Given the description of an element on the screen output the (x, y) to click on. 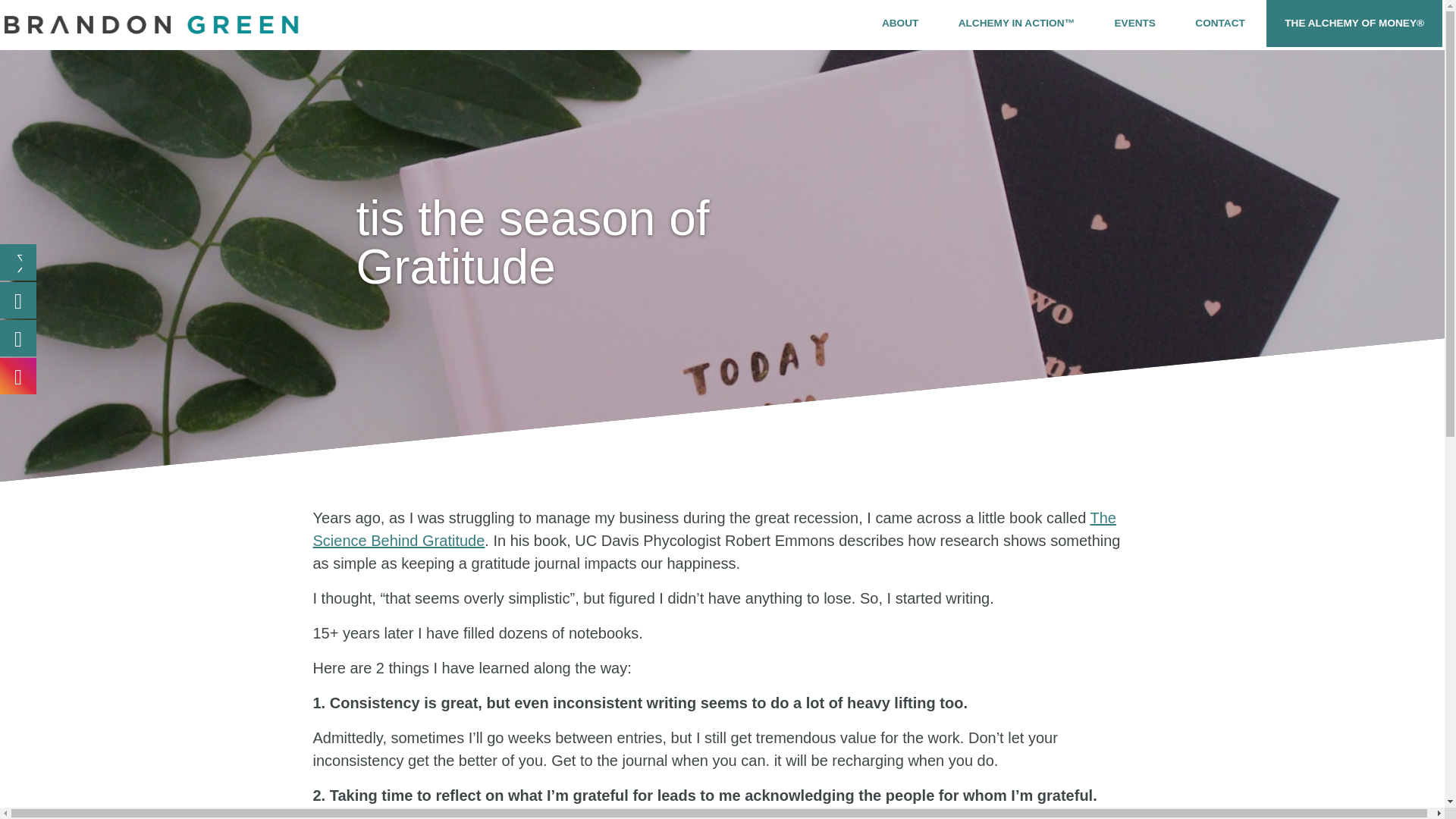
ABOUT (899, 23)
The Science Behind Gratitude (714, 528)
CONTACT (1219, 23)
EVENTS (1134, 23)
